Given the description of an element on the screen output the (x, y) to click on. 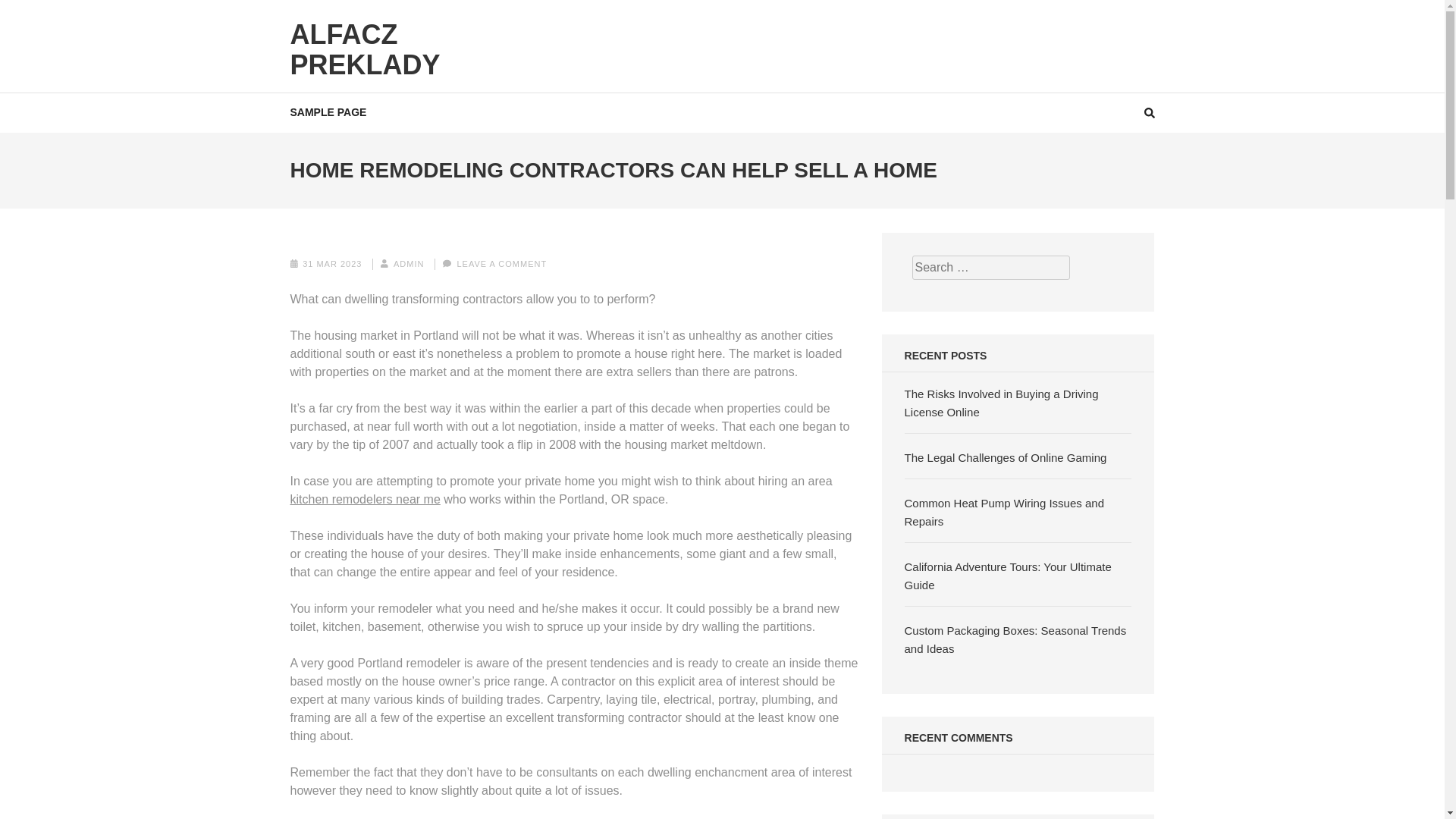
California Adventure Tours: Your Ultimate Guide (1008, 575)
kitchen remodelers near me (364, 499)
ALFACZ PREKLADY (364, 49)
Common Heat Pump Wiring Issues and Repairs (1003, 511)
31 MAR 2023 (331, 263)
LEAVE A COMMENT (502, 263)
ADMIN (408, 263)
Custom Packaging Boxes: Seasonal Trends and Ideas (1015, 639)
SAMPLE PAGE (327, 112)
The Risks Involved in Buying a Driving License Online (1001, 402)
Search (1428, 19)
The Legal Challenges of Online Gaming (1005, 457)
